Given the description of an element on the screen output the (x, y) to click on. 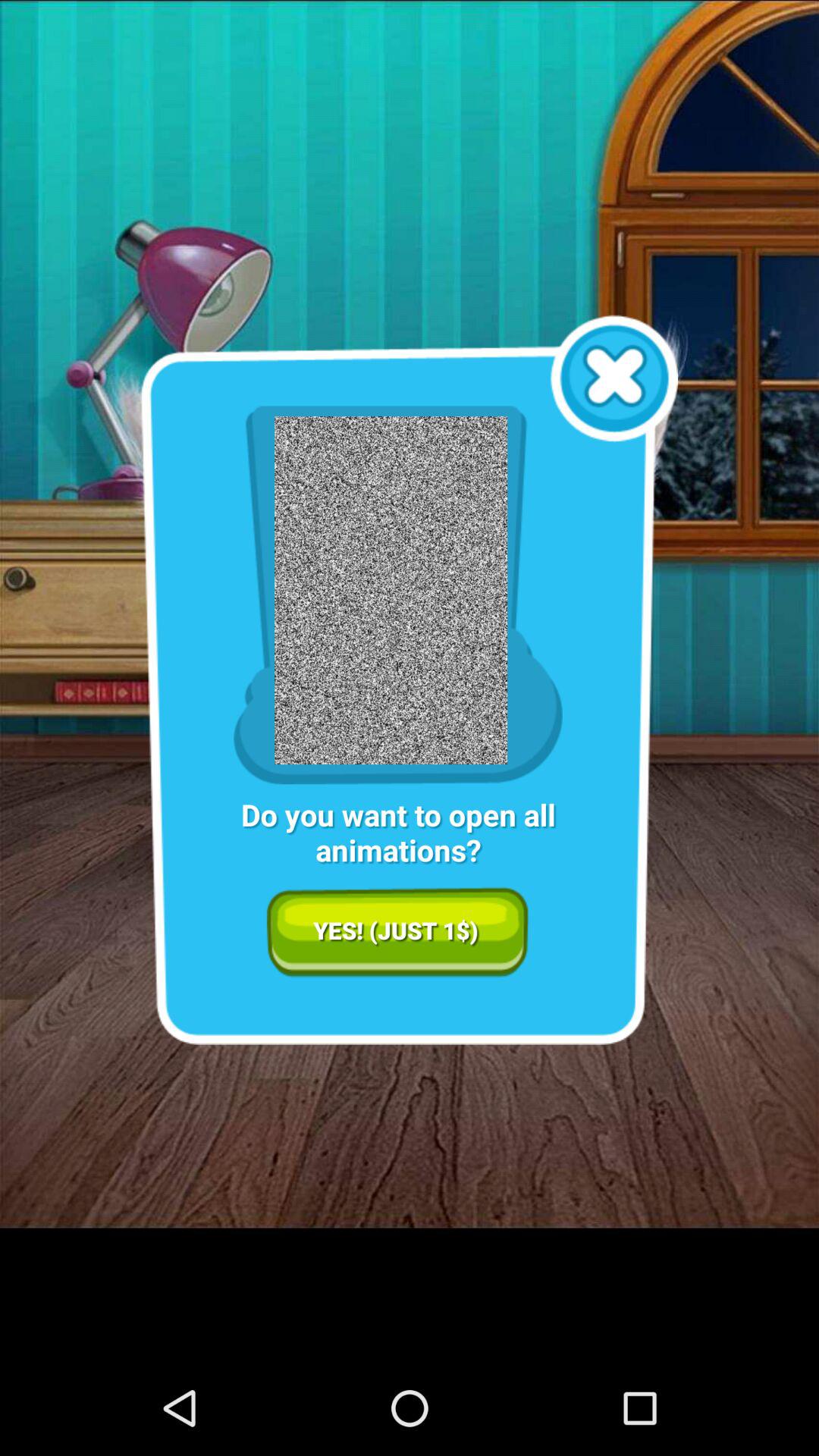
click icon above do you want item (613, 378)
